Given the description of an element on the screen output the (x, y) to click on. 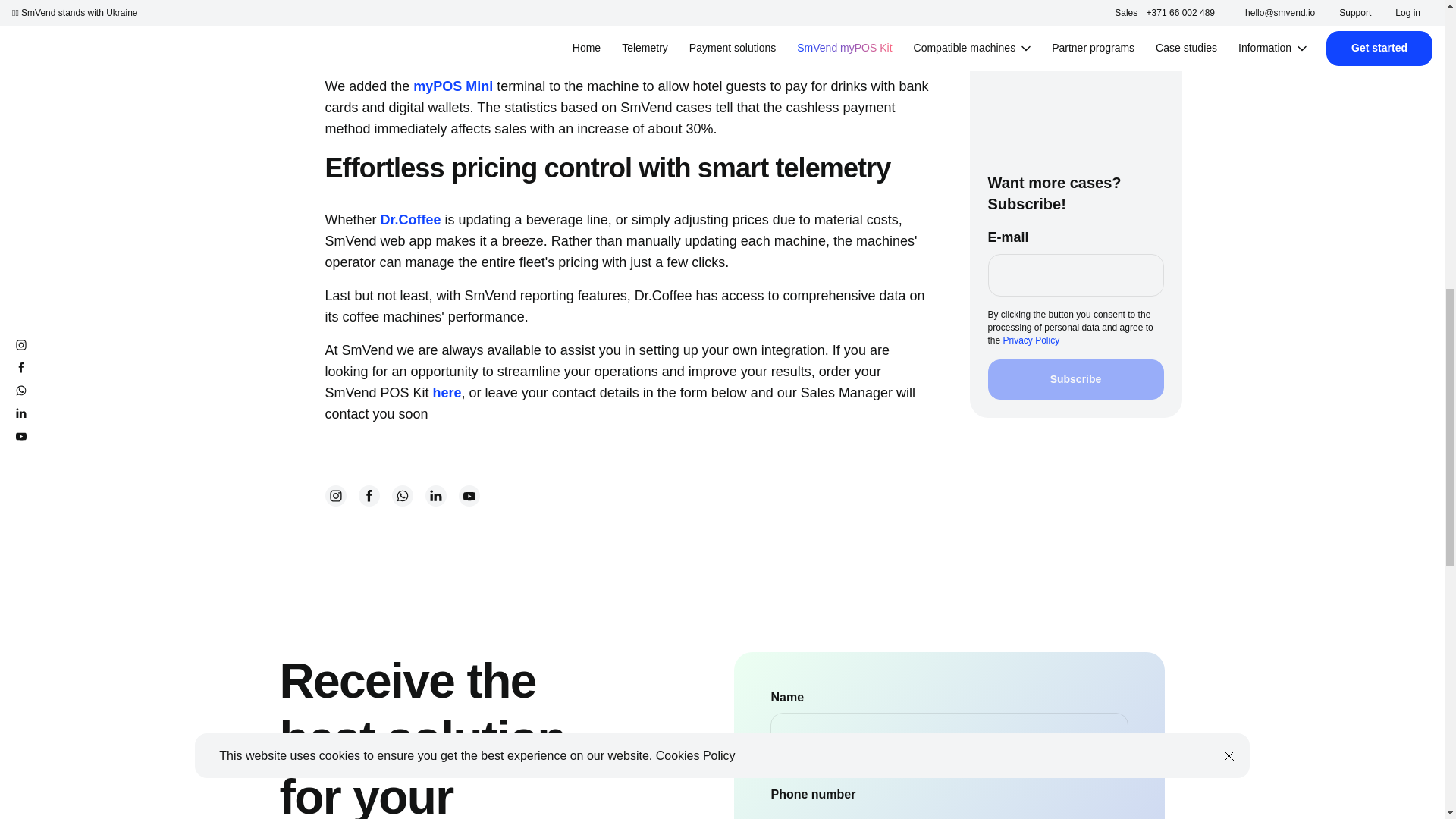
here (446, 392)
Dr.Coffee (410, 219)
myPOS Mini (454, 86)
